Given the description of an element on the screen output the (x, y) to click on. 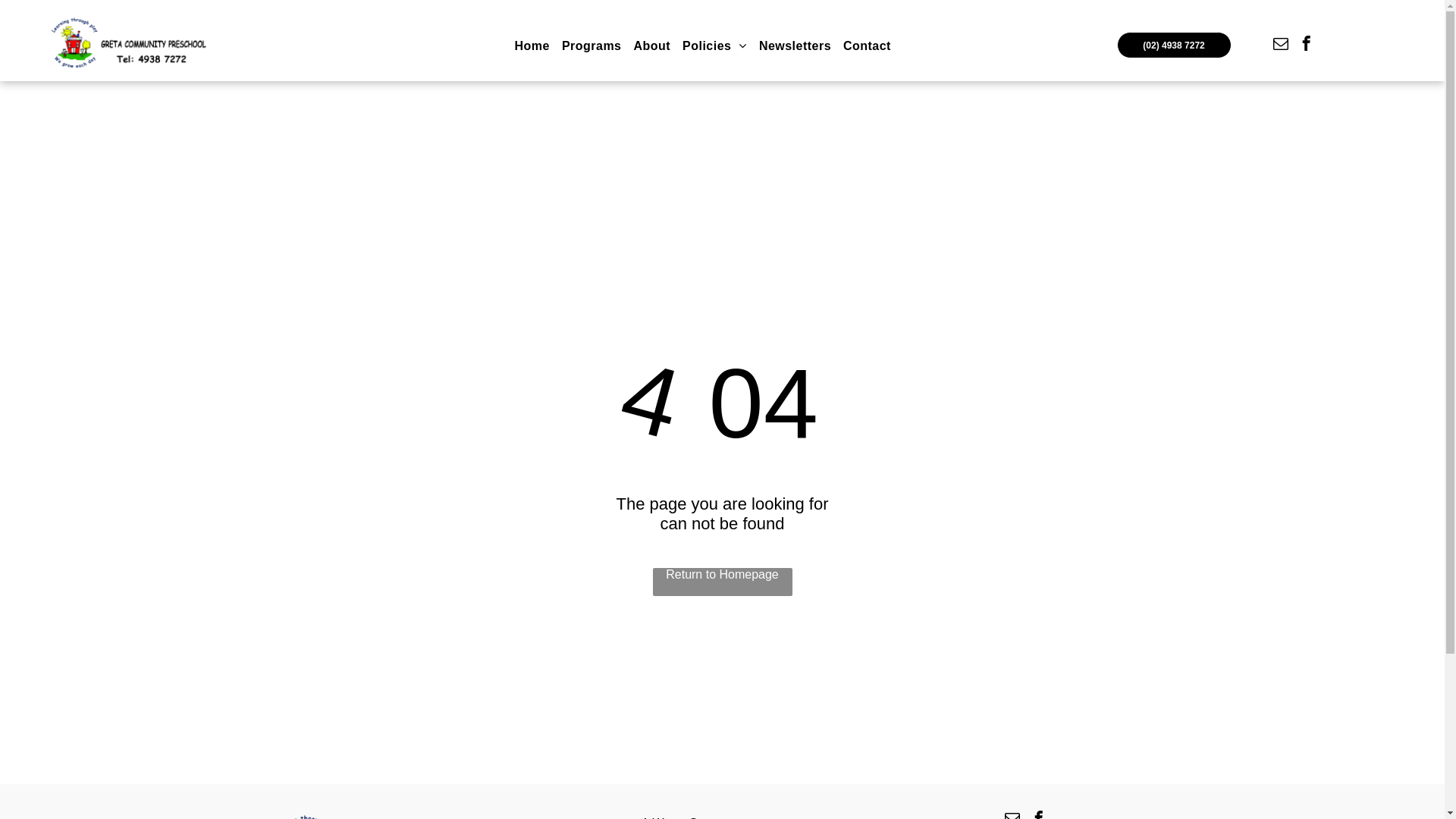
Contact Element type: text (867, 45)
Return to Homepage Element type: text (721, 581)
About Element type: text (651, 45)
Policies Element type: text (714, 45)
Home Element type: text (531, 45)
(02) 4938 7272 Element type: text (1174, 44)
Newsletters Element type: text (795, 45)
Programs Element type: text (591, 45)
